Given the description of an element on the screen output the (x, y) to click on. 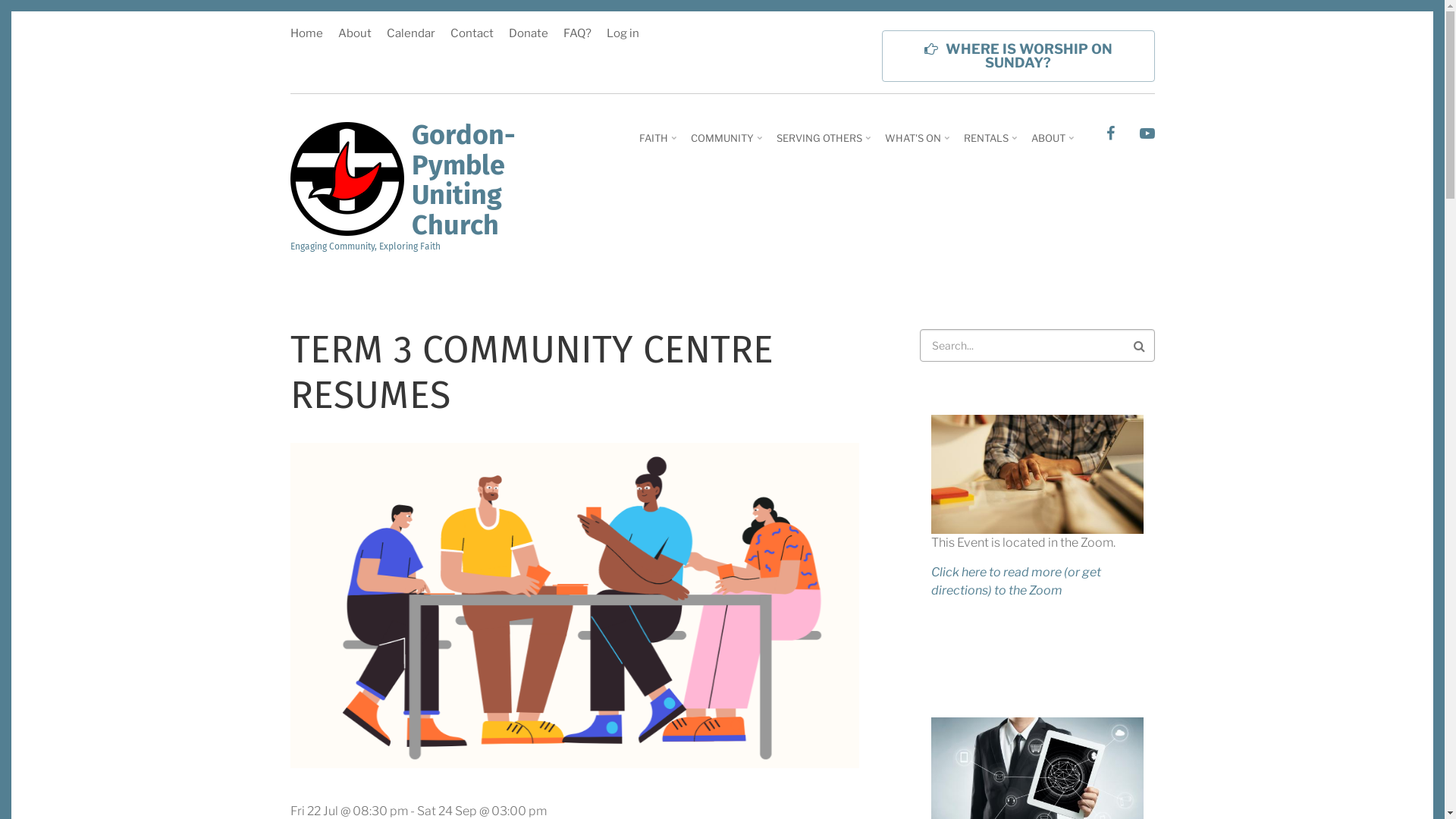
Gordon-Pymble Uniting Church Element type: text (462, 181)
Calendar Element type: text (410, 34)
About Element type: text (354, 34)
Home Element type: hover (346, 177)
FAQ? Element type: text (576, 34)
Enter the terms you wish to search for. Element type: hover (1036, 345)
Donate Element type: text (527, 34)
Contact Element type: text (471, 34)
facebook Element type: text (1109, 134)
WHERE IS WORSHIP ON SUNDAY? Element type: text (1017, 55)
Log in Element type: text (619, 34)
Skip to main content Element type: text (0, 0)
youtube Element type: text (1146, 134)
Click here to read more (or get directions) to the Zoom Element type: text (1016, 580)
Search Element type: text (1142, 345)
Home Element type: text (309, 34)
